Given the description of an element on the screen output the (x, y) to click on. 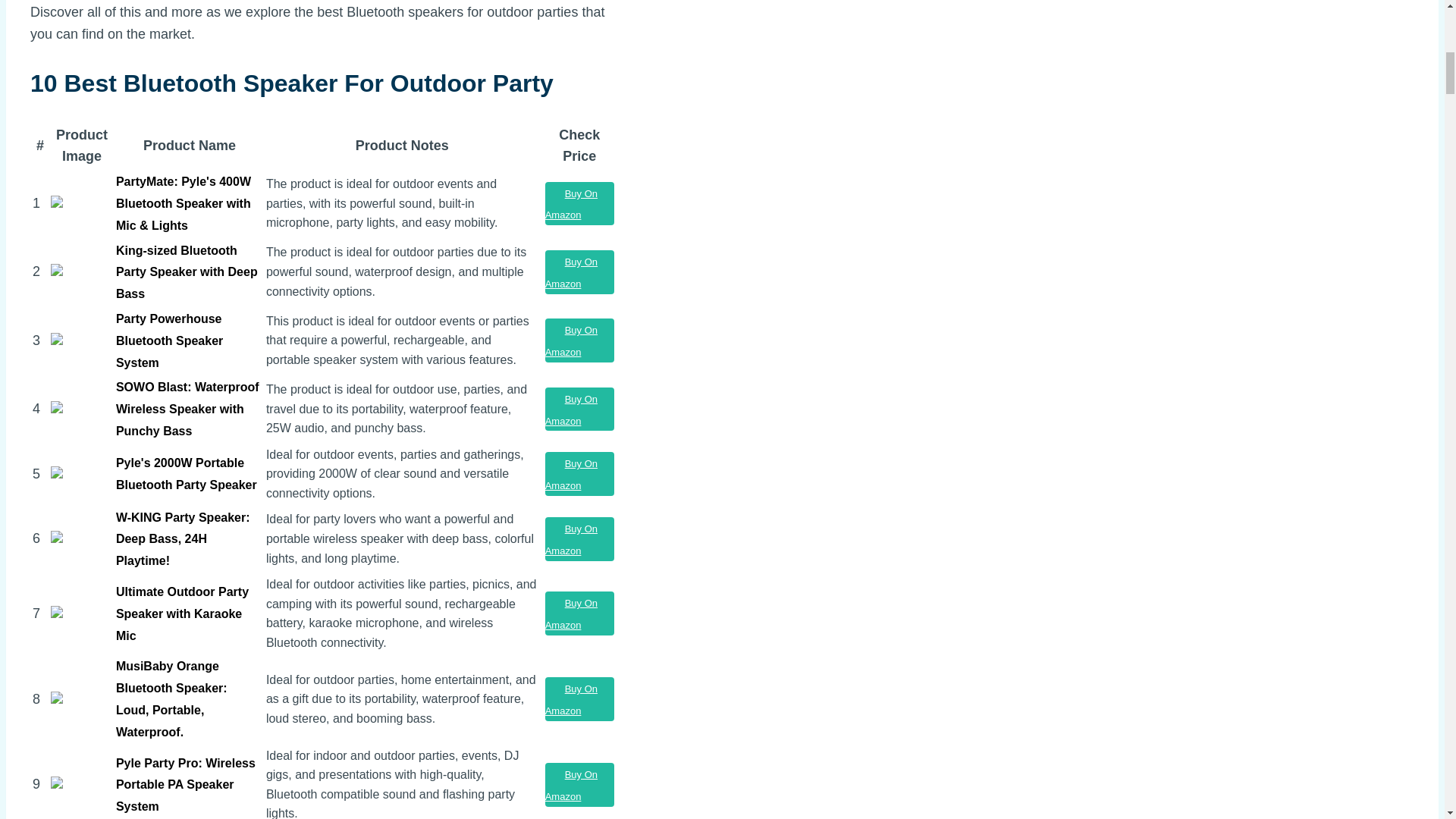
Buy On Amazon (579, 613)
Pyle Party Pro: Wireless Portable PA Speaker System (186, 785)
Buy On Amazon (579, 784)
Check details from Amazon (579, 272)
Check details from Amazon (579, 474)
Check details from Amazon (579, 203)
Ultimate Outdoor Party Speaker with Karaoke Mic (182, 613)
Check details from Amazon (579, 613)
Buy On Amazon (579, 409)
Check details from Amazon (579, 340)
Buy On Amazon (579, 699)
Check details from Amazon (579, 784)
Pyle's 2000W Portable Bluetooth Party Speaker (186, 473)
Check details from Amazon (579, 538)
